Given the description of an element on the screen output the (x, y) to click on. 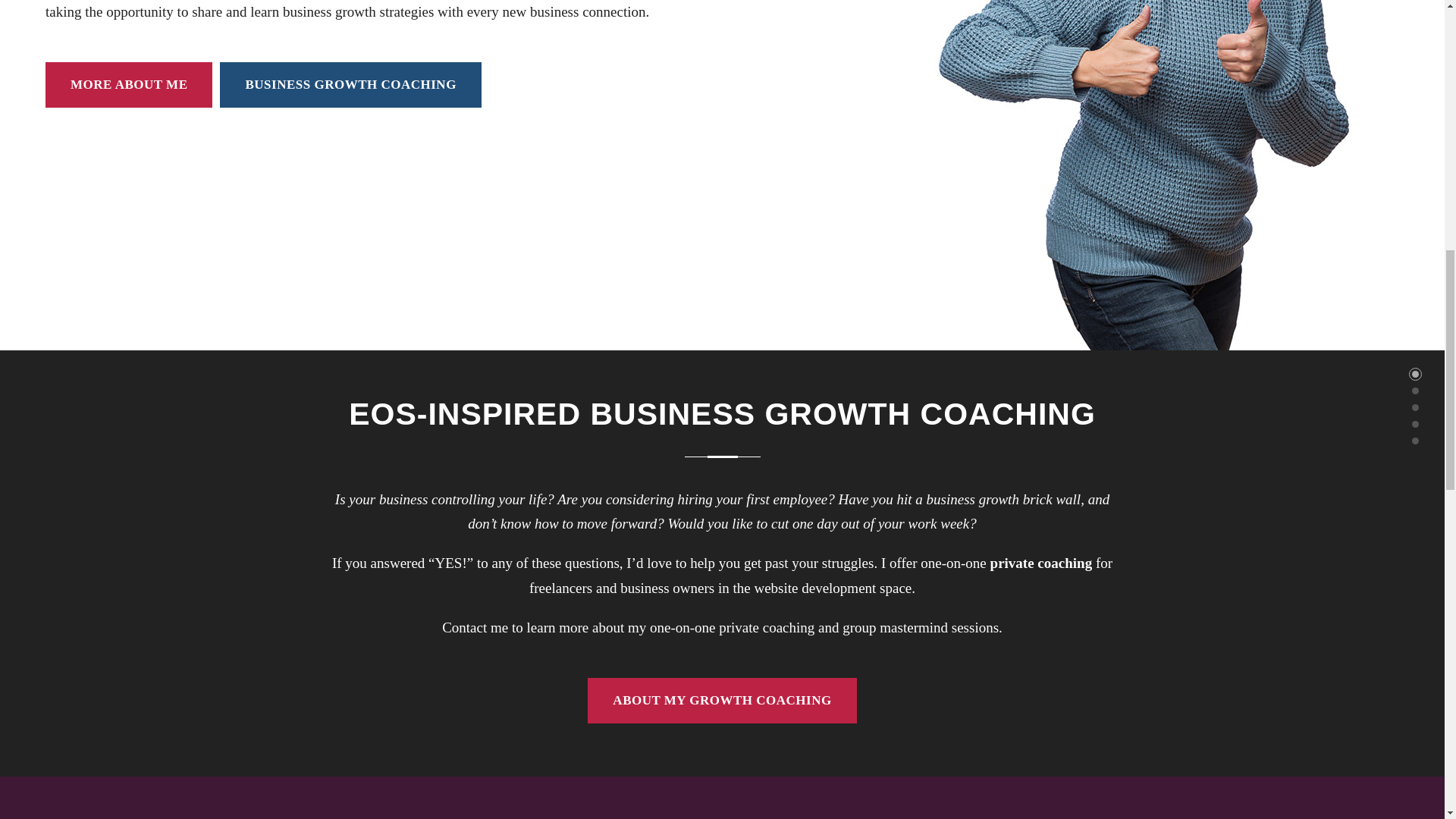
MORE ABOUT ME (128, 84)
Contact me (475, 627)
ABOUT MY GROWTH COACHING (722, 700)
BUSINESS GROWTH COACHING (349, 84)
